Given the description of an element on the screen output the (x, y) to click on. 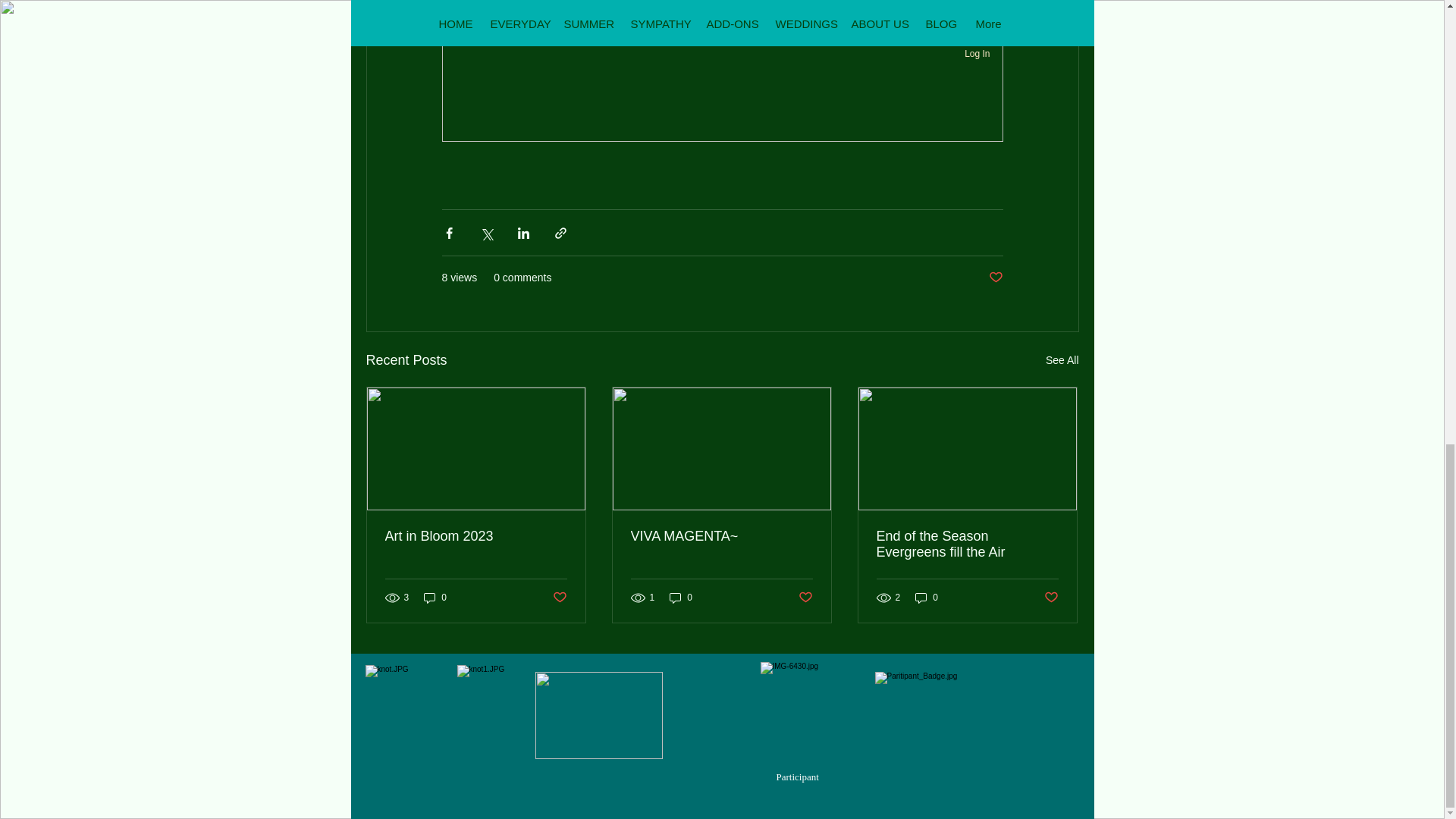
0 (926, 596)
Art in Bloom 2023 (476, 536)
Post not marked as liked (558, 597)
Post not marked as liked (804, 597)
Post not marked as liked (1050, 597)
End of the Season Evergreens fill the Air (967, 544)
0 (681, 596)
See All (1061, 360)
IMG-5546.jpg (598, 715)
Post not marked as liked (995, 277)
